Given the description of an element on the screen output the (x, y) to click on. 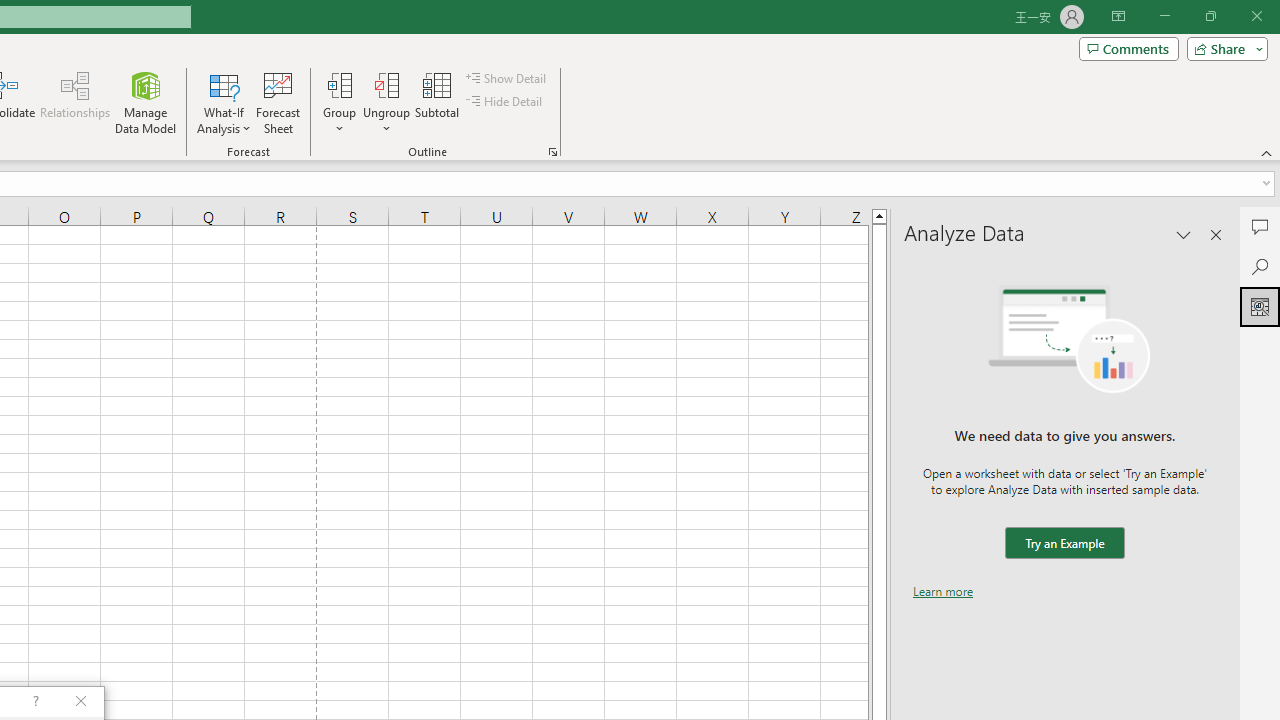
Manage Data Model (145, 102)
Ungroup... (386, 84)
Relationships (75, 102)
More Options (386, 121)
Hide Detail (505, 101)
Learn more (943, 591)
Task Pane Options (1183, 234)
What-If Analysis (223, 102)
Collapse the Ribbon (1267, 152)
Forecast Sheet (278, 102)
Search (1260, 266)
Subtotal (437, 102)
We need data to give you answers. Try an Example (1064, 543)
Comments (1260, 226)
